Given the description of an element on the screen output the (x, y) to click on. 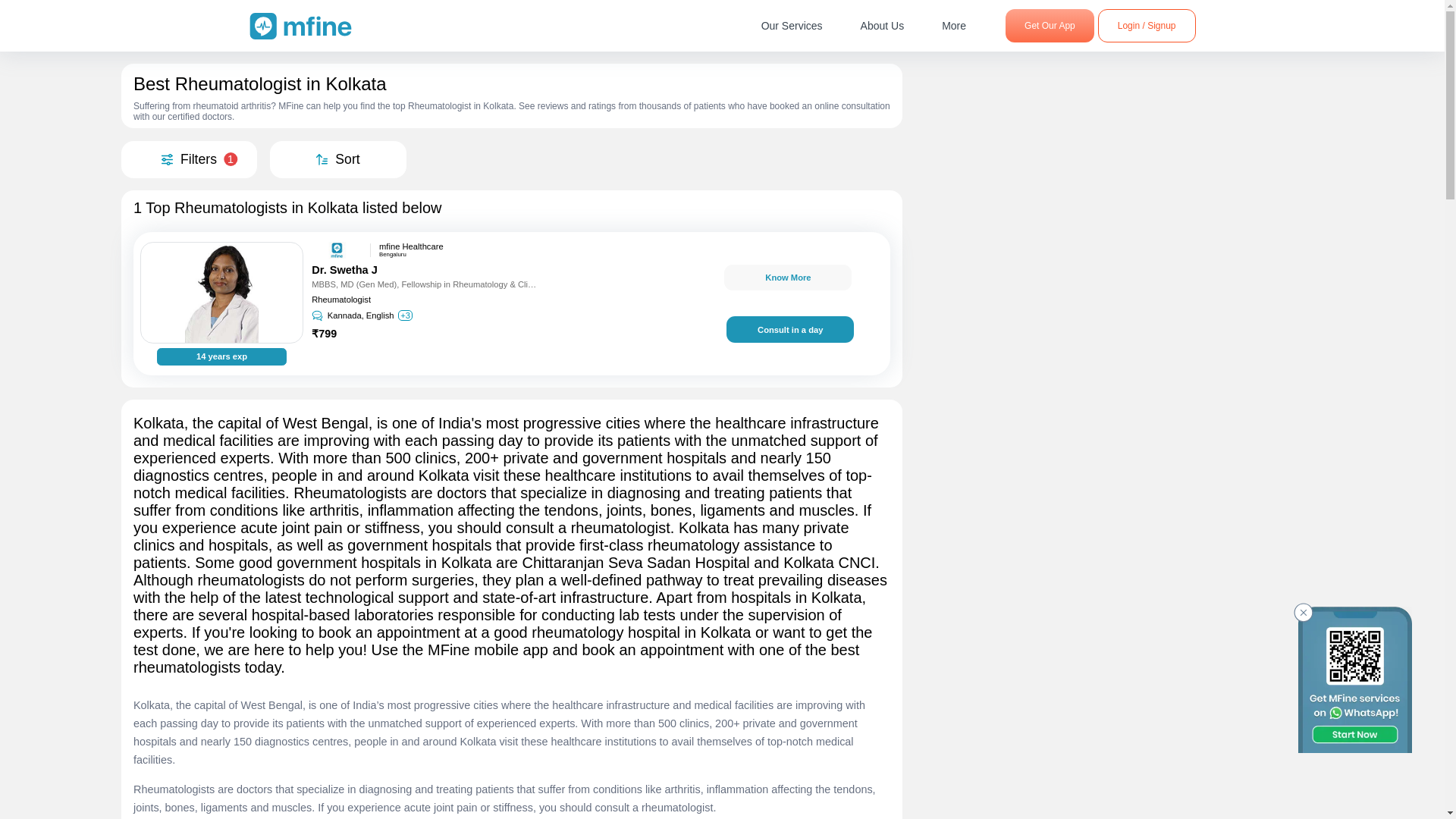
About Us (882, 25)
Get Our App (1050, 25)
